Given the description of an element on the screen output the (x, y) to click on. 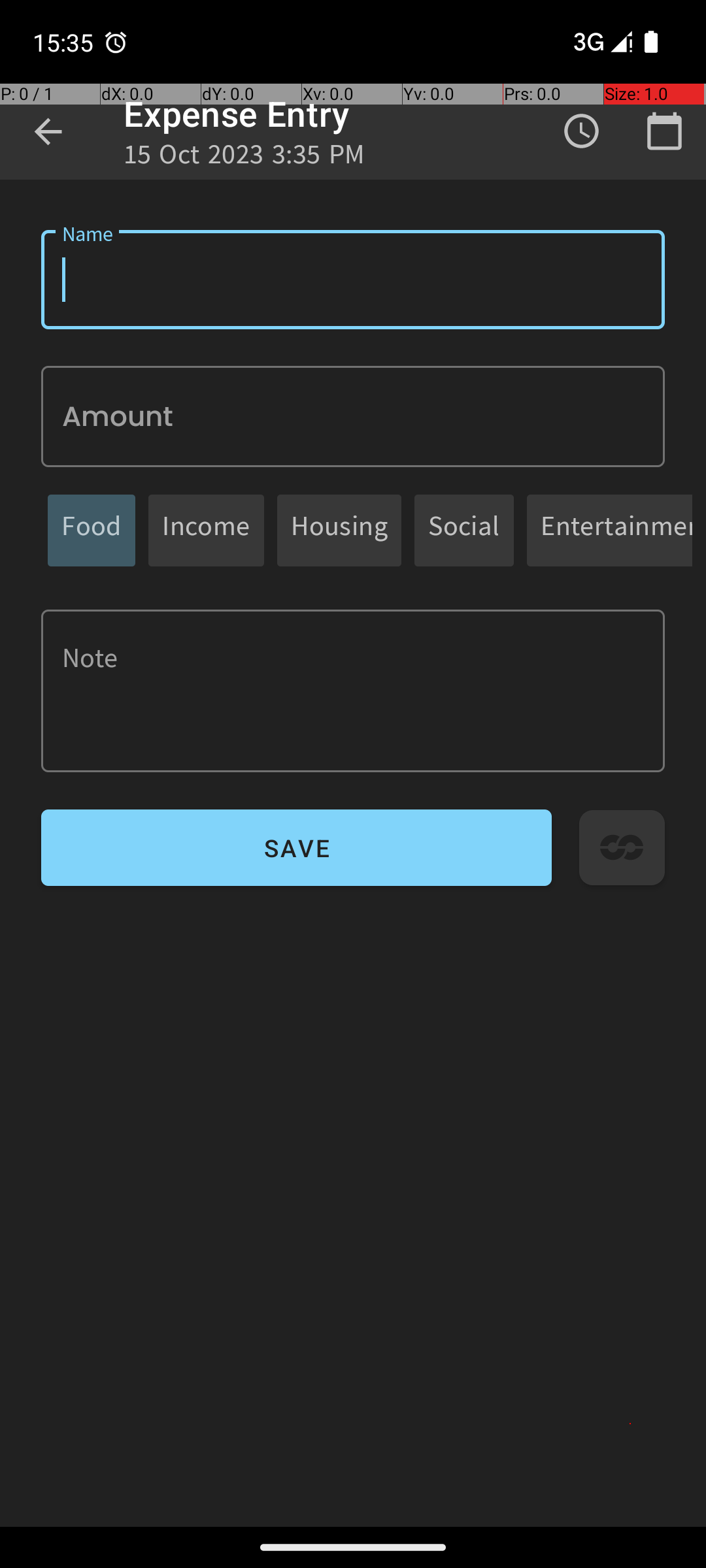
15 Oct 2023 3:35 PM Element type: android.widget.TextView (244, 157)
